Given the description of an element on the screen output the (x, y) to click on. 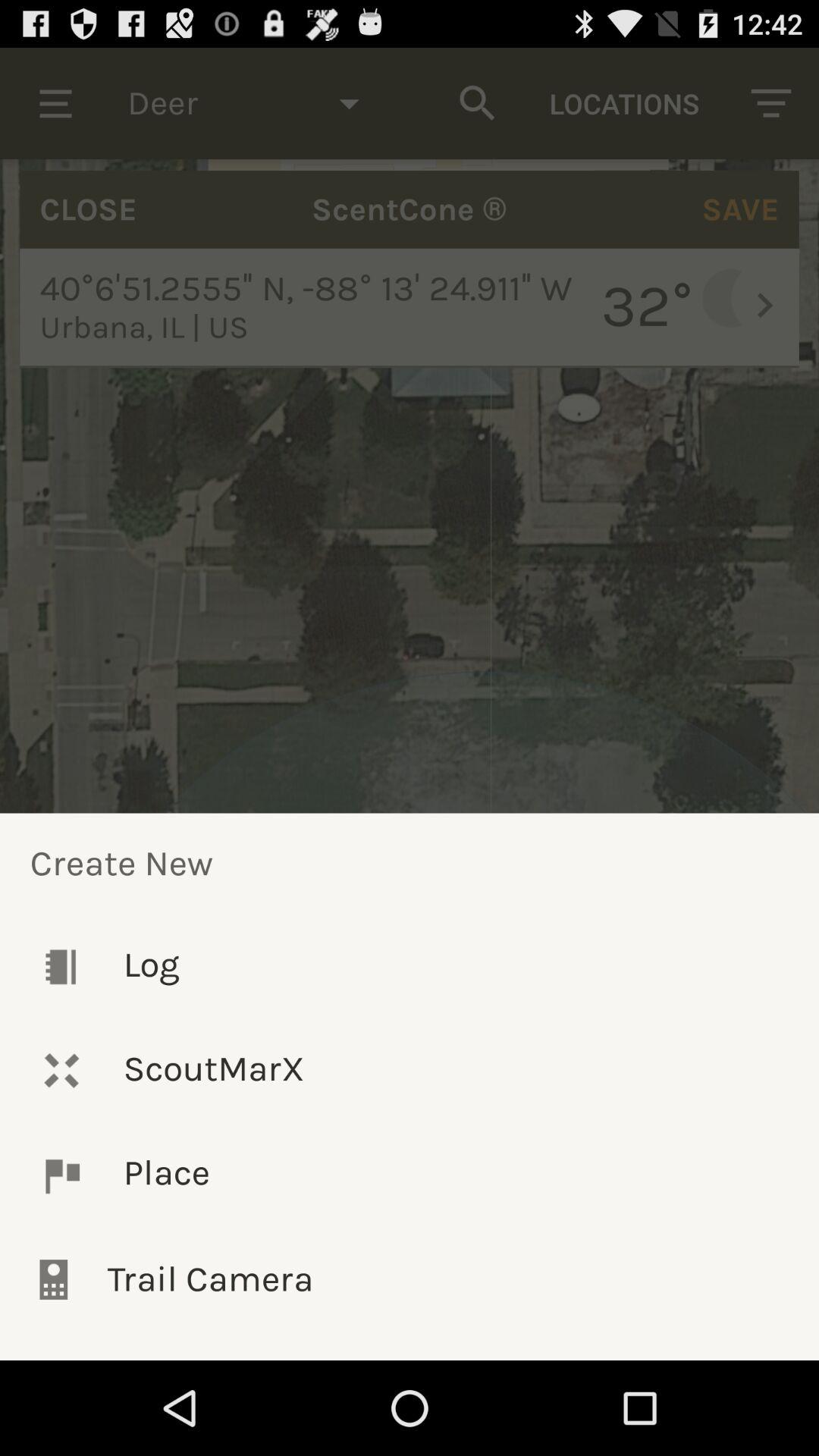
swipe to the place item (409, 1175)
